Given the description of an element on the screen output the (x, y) to click on. 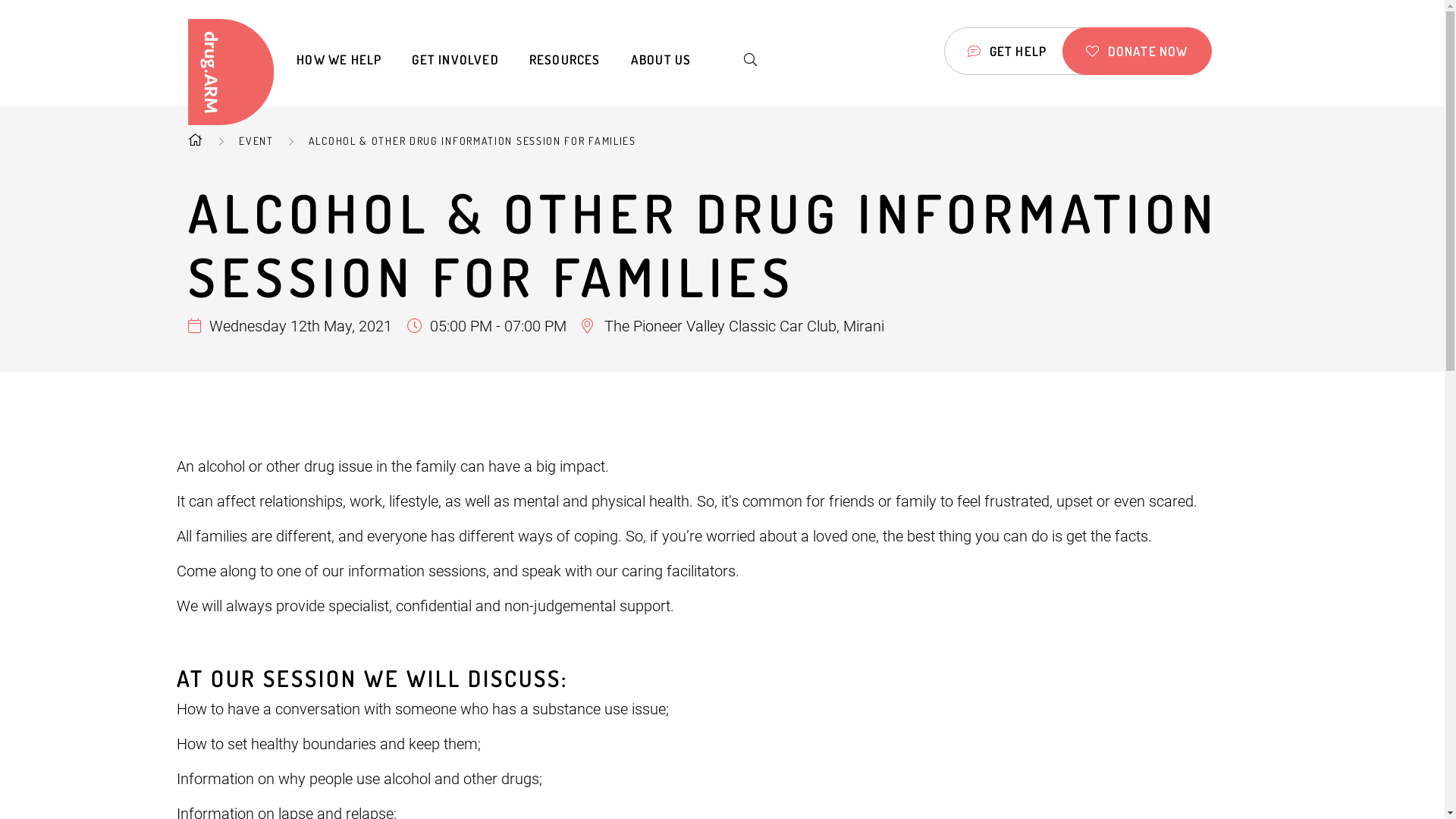
ABOUT US Element type: text (660, 59)
DONATE NOW Element type: text (1136, 51)
GET INVOLVED Element type: text (454, 59)
GET HELP Element type: text (1006, 51)
RESOURCES Element type: text (564, 59)
HOW WE HELP Element type: text (338, 59)
EVENT Element type: text (255, 140)
